Given the description of an element on the screen output the (x, y) to click on. 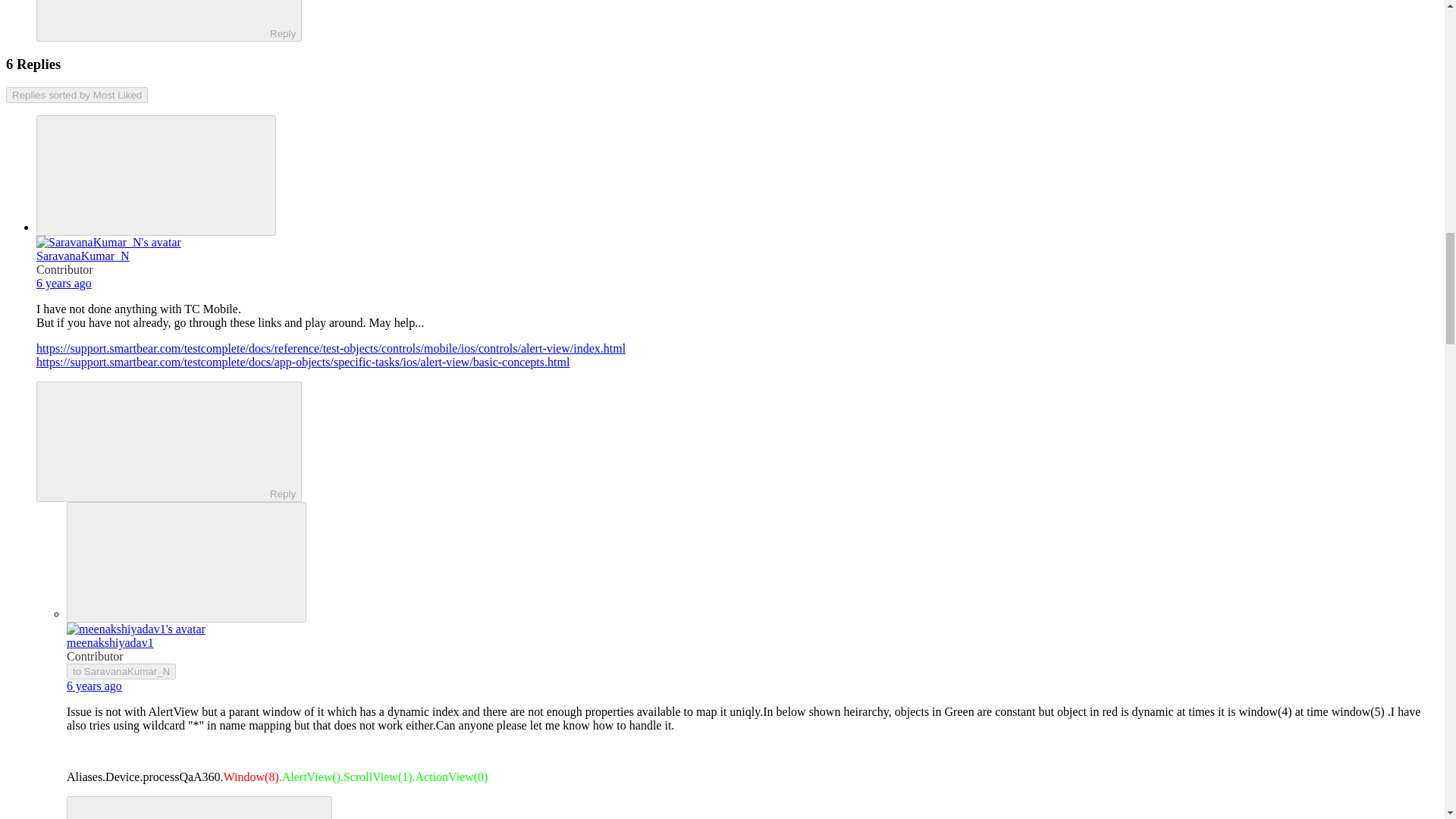
November 9, 2018 at 6:15 AM (94, 685)
November 8, 2018 at 3:07 PM (63, 282)
Reply (185, 808)
ReplyReply (198, 807)
6 years ago (94, 685)
ReplyReply (168, 441)
Reply (155, 440)
Reply (155, 18)
ReplyReply (168, 20)
meenakshiyadav1 (110, 642)
6 years ago (63, 282)
Replies sorted by Most Liked (76, 94)
